Given the description of an element on the screen output the (x, y) to click on. 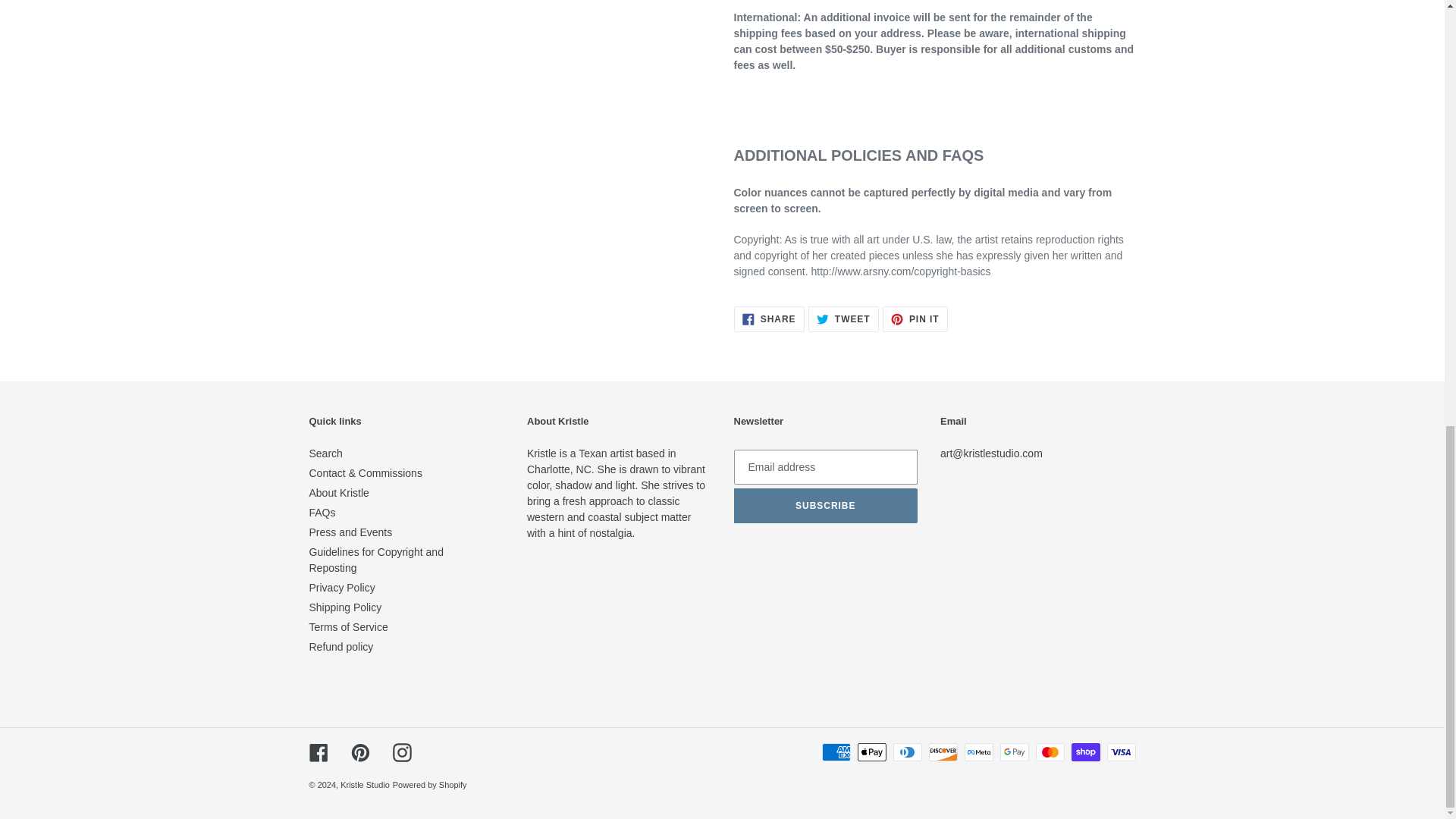
Guidelines for Copyright and Reposting (376, 560)
SUBSCRIBE (825, 505)
FAQs (322, 512)
Privacy Policy (341, 587)
Press and Events (350, 532)
Powered by Shopify (430, 784)
Shipping Policy (843, 319)
Search (344, 607)
About Kristle (325, 453)
Terms of Service (769, 319)
Refund policy (338, 492)
Facebook (348, 626)
Instagram (341, 646)
